Given the description of an element on the screen output the (x, y) to click on. 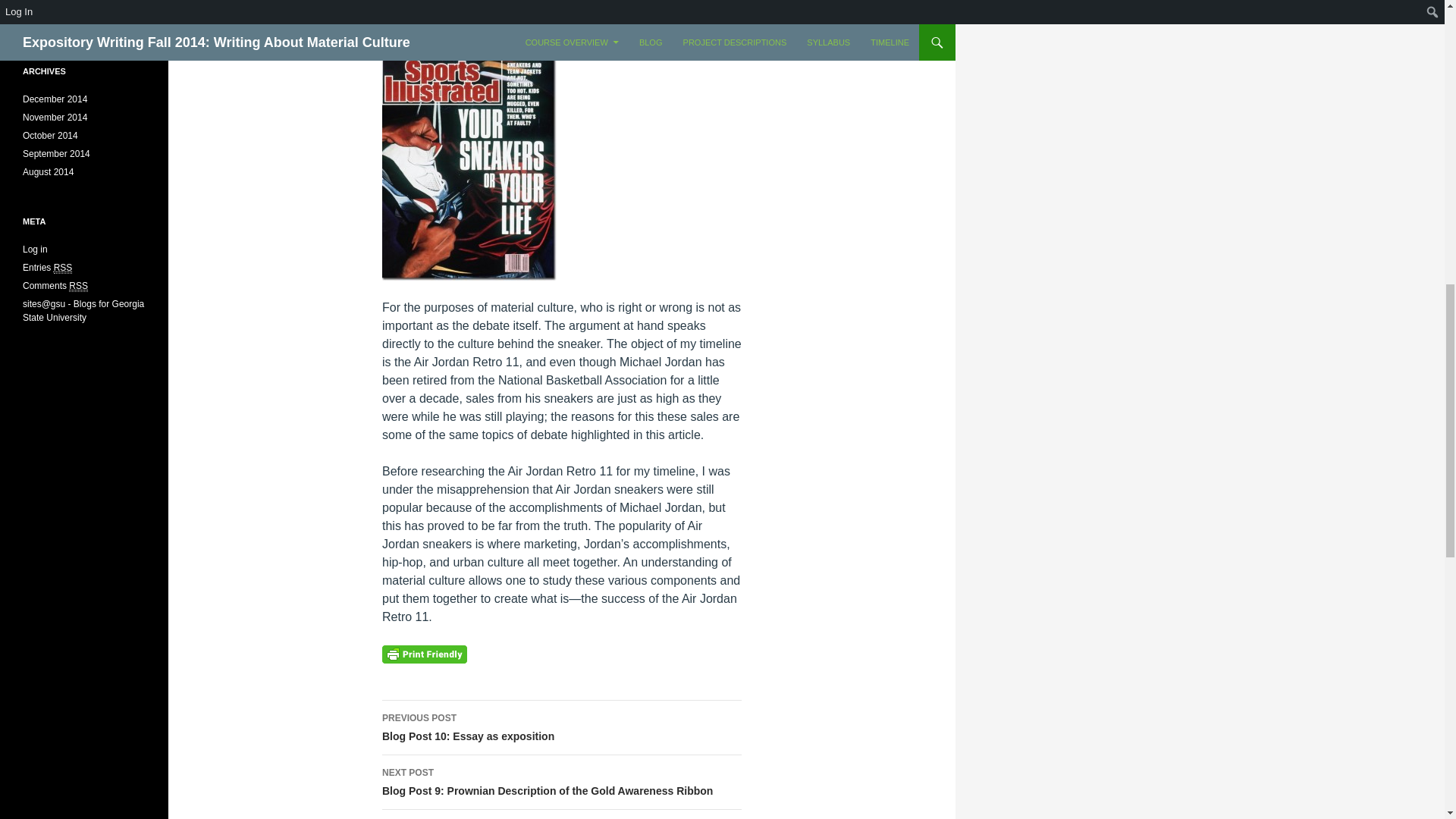
Syndicate this site using RSS 2.0 (47, 267)
Really Simple Syndication (561, 728)
The latest comments to all posts in RSS (62, 267)
Really Simple Syndication (55, 285)
